Given the description of an element on the screen output the (x, y) to click on. 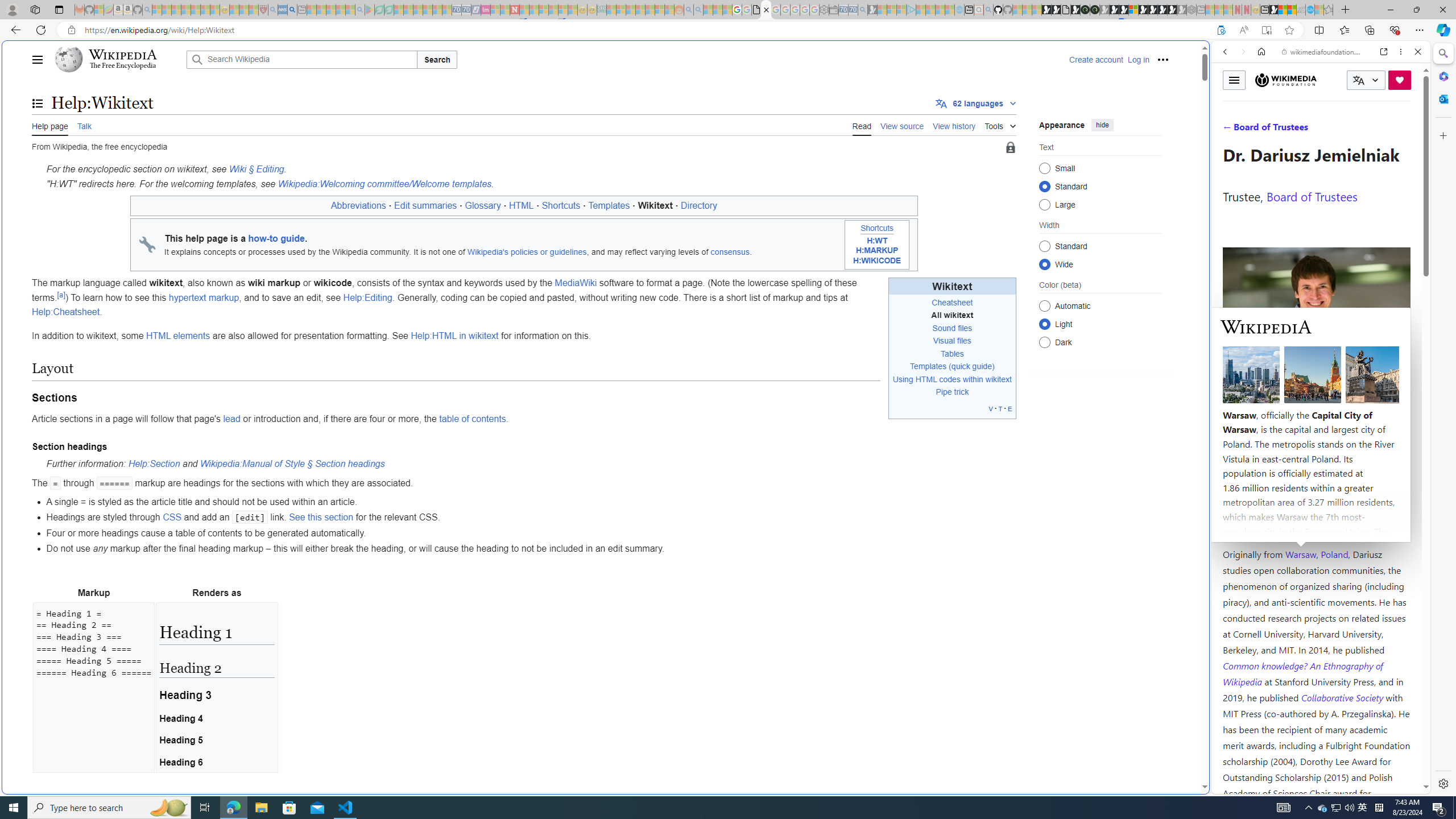
Class: b_serphb (1404, 130)
Microsoft account | Privacy - Sleeping (901, 9)
Close split screen (1208, 57)
Navy Quest (1300, 9)
Wikipedia:Welcoming committee/Welcome templates (385, 183)
Shortcuts (876, 228)
Local - MSN - Sleeping (253, 9)
All wikitext (951, 314)
hypertext markup (203, 297)
Collaborative Society  (1343, 697)
